Given the description of an element on the screen output the (x, y) to click on. 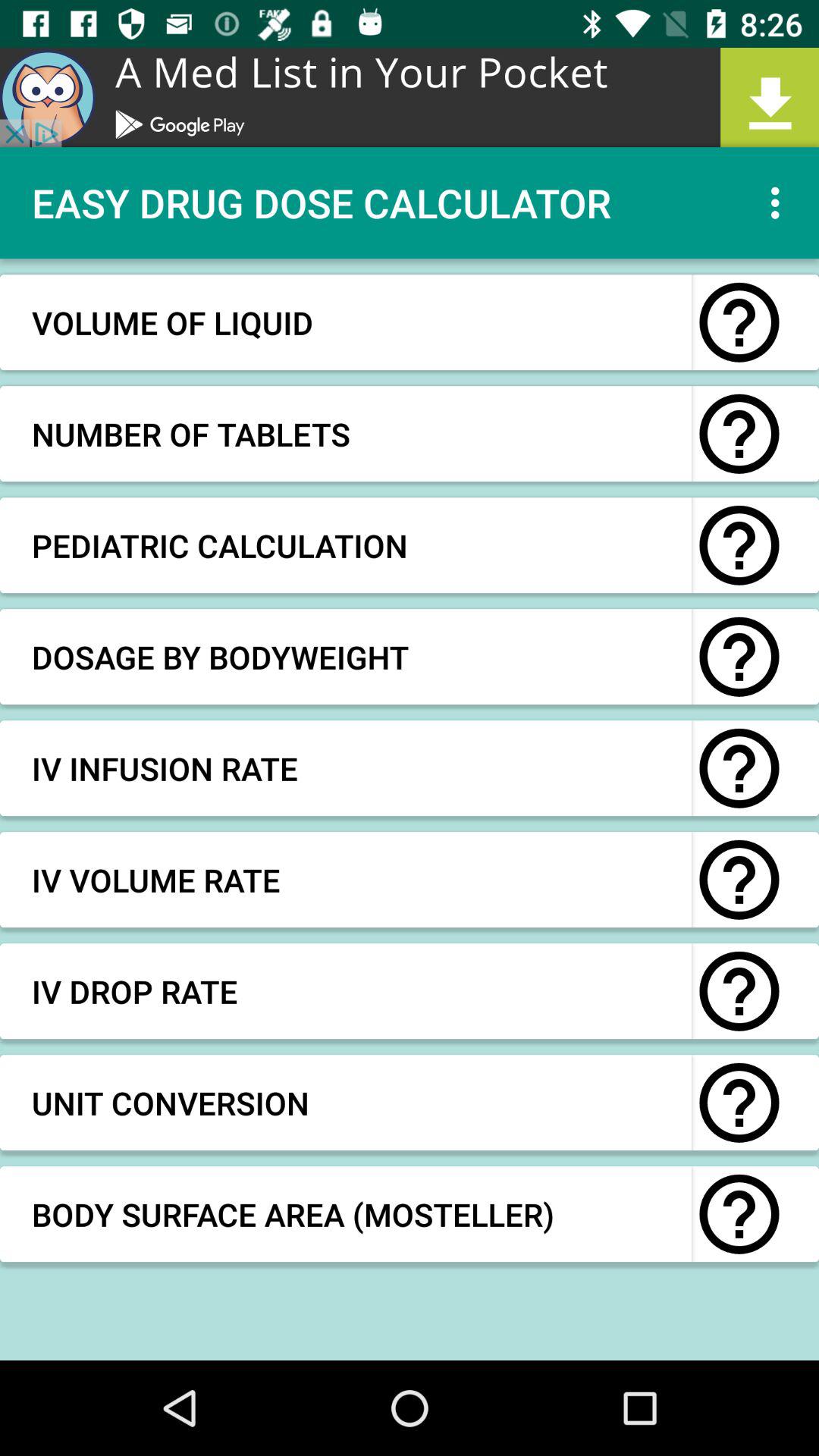
help (739, 1214)
